Given the description of an element on the screen output the (x, y) to click on. 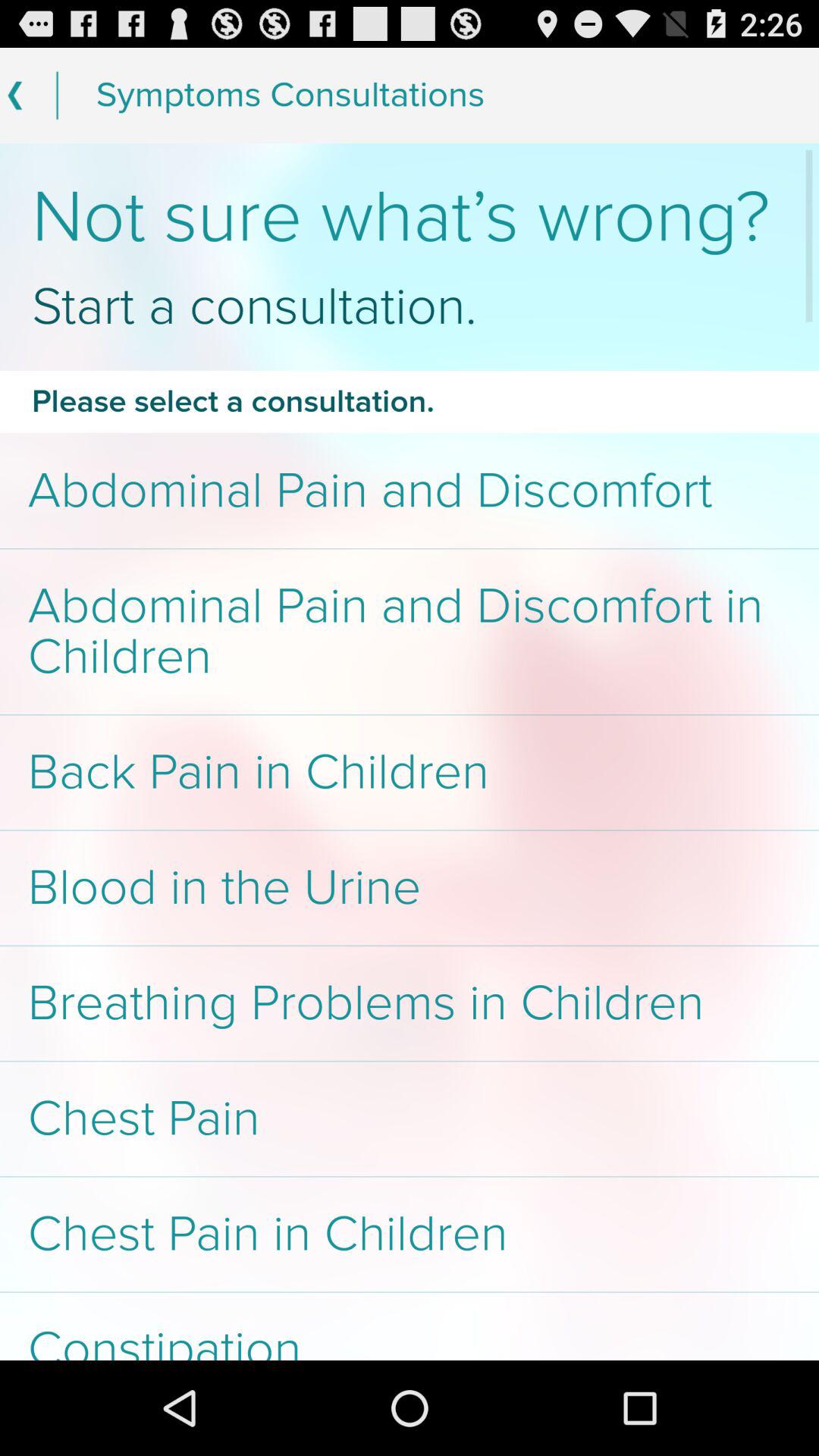
turn on the constipation (409, 1326)
